Given the description of an element on the screen output the (x, y) to click on. 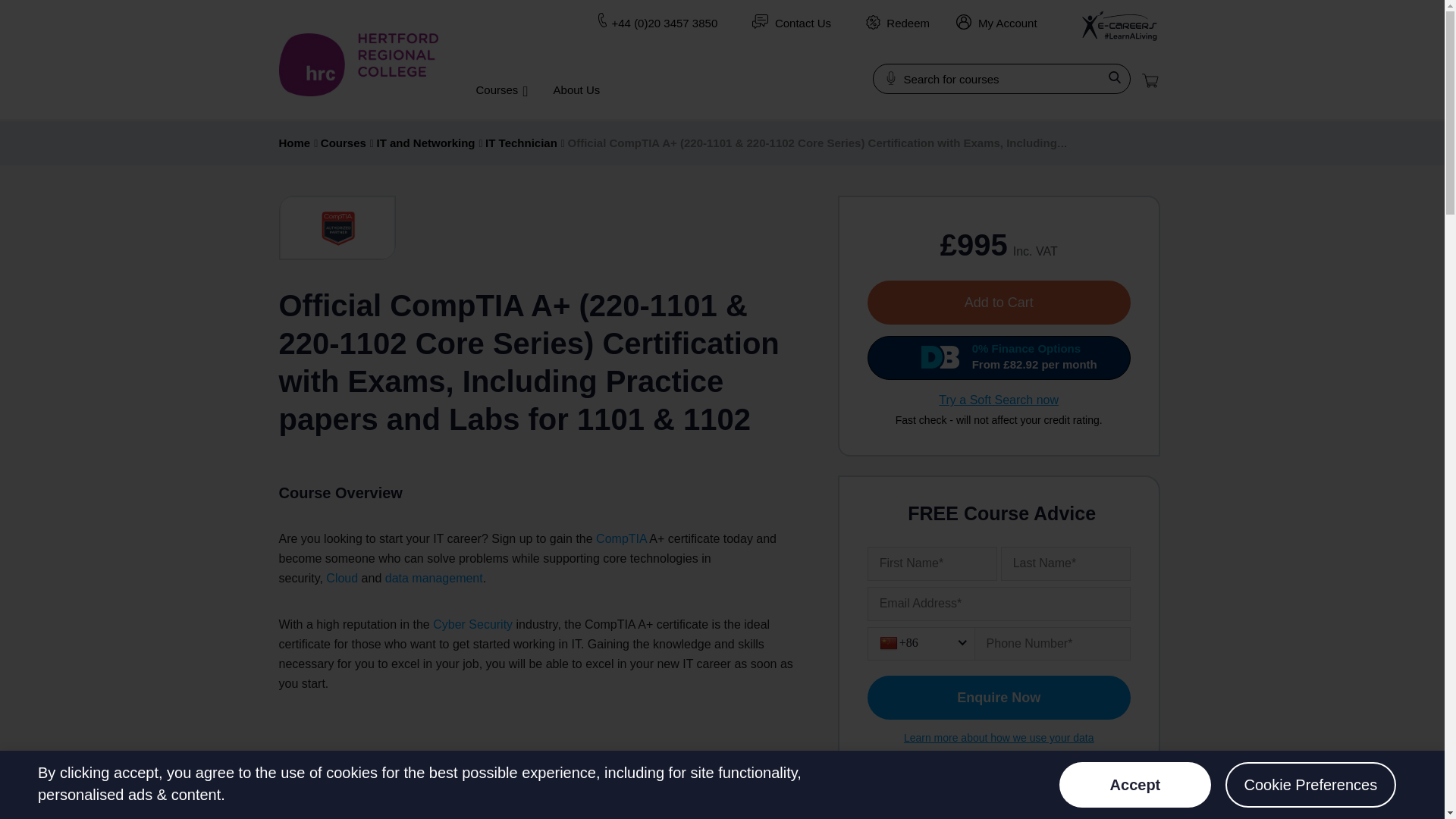
My Account (996, 22)
Contact Us (802, 22)
Cookie Preferences (1310, 784)
Contact us (760, 21)
Profile (963, 21)
Courses (499, 88)
Voice Search (890, 77)
Search (1114, 77)
Redeem (873, 22)
Redeem (908, 22)
Accept (1135, 784)
